Given the description of an element on the screen output the (x, y) to click on. 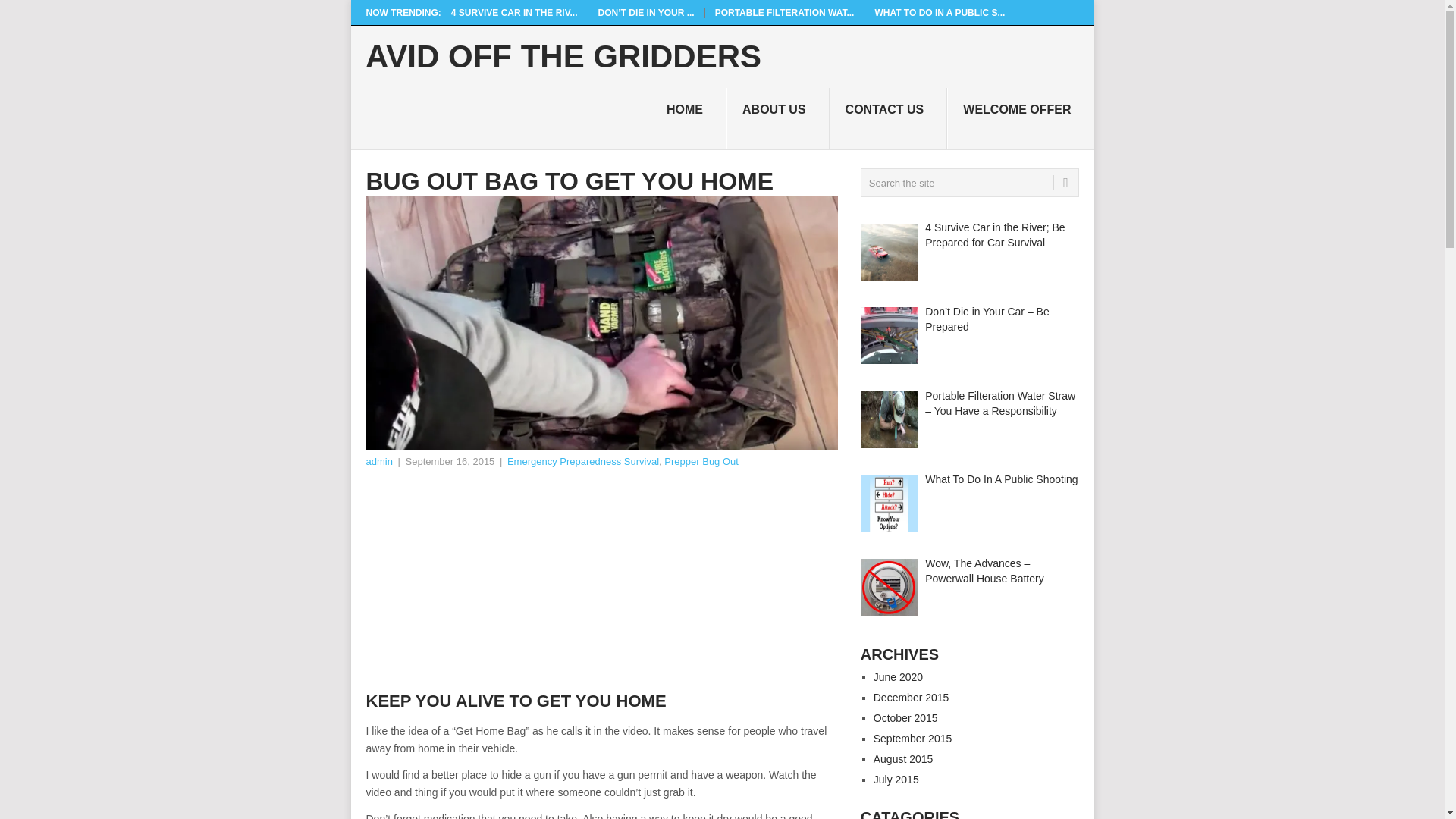
HOME (688, 118)
Emergency Preparedness Survival (582, 460)
Prepper Bug Out (700, 460)
CONTACT US (888, 118)
admin (378, 460)
AVID OFF THE GRIDDERS (563, 56)
WELCOME OFFER (1020, 118)
What To Do In A Public Shooting (939, 12)
Search the site (969, 182)
4 Survive Car in the River; Be Prepared for Car Survival (514, 12)
Advertisement (601, 583)
PORTABLE FILTERATION WAT... (784, 12)
ABOUT US (777, 118)
Posts by admin (378, 460)
4 SURVIVE CAR IN THE RIV... (514, 12)
